Given the description of an element on the screen output the (x, y) to click on. 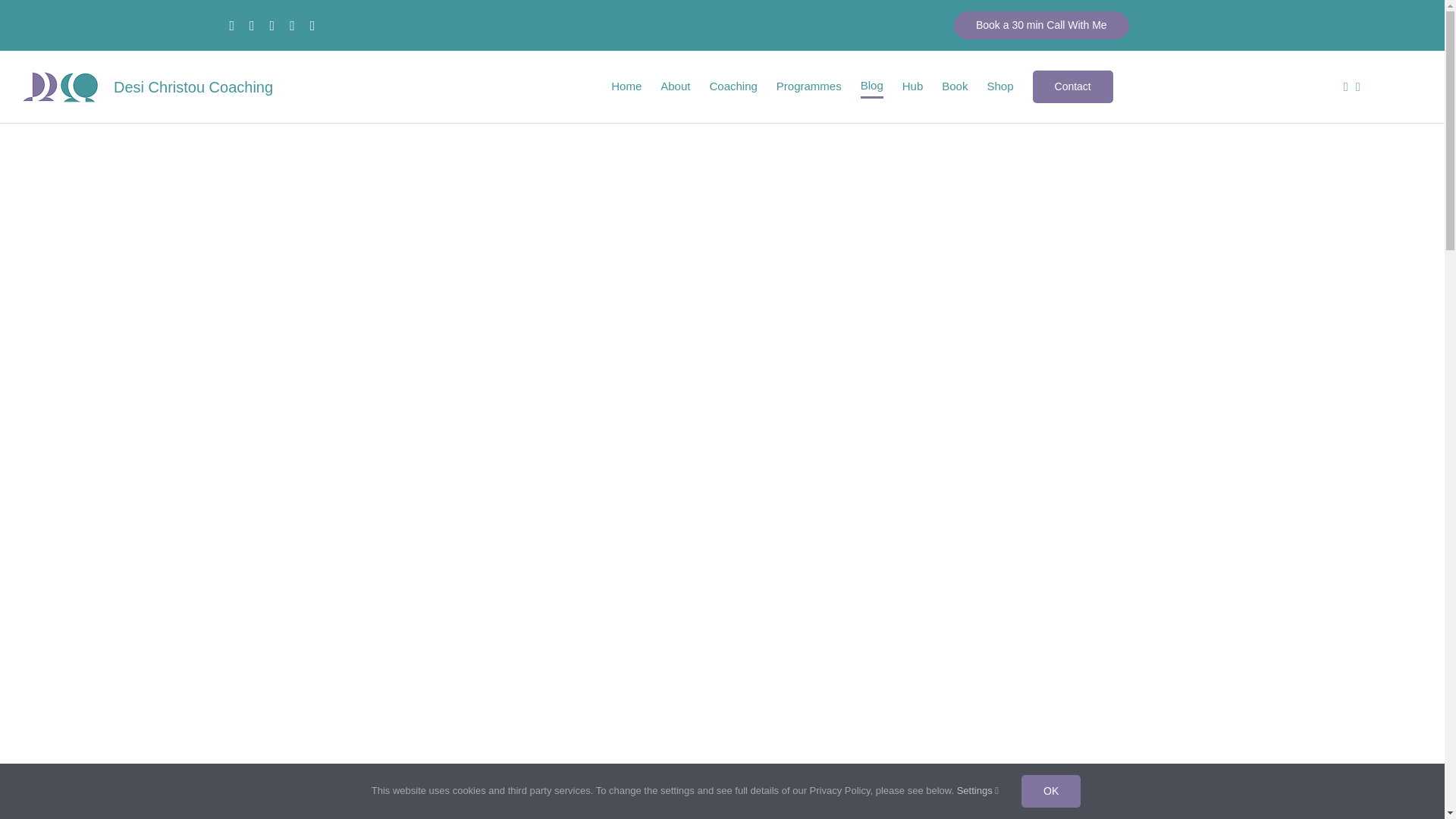
Book (955, 86)
Coaching (733, 86)
About (675, 86)
Home (626, 86)
Book a 30 min Call With Me (1041, 25)
Hub (912, 86)
Contact (1072, 86)
Blog (871, 87)
Programmes (808, 86)
Shop (1000, 86)
